Given the description of an element on the screen output the (x, y) to click on. 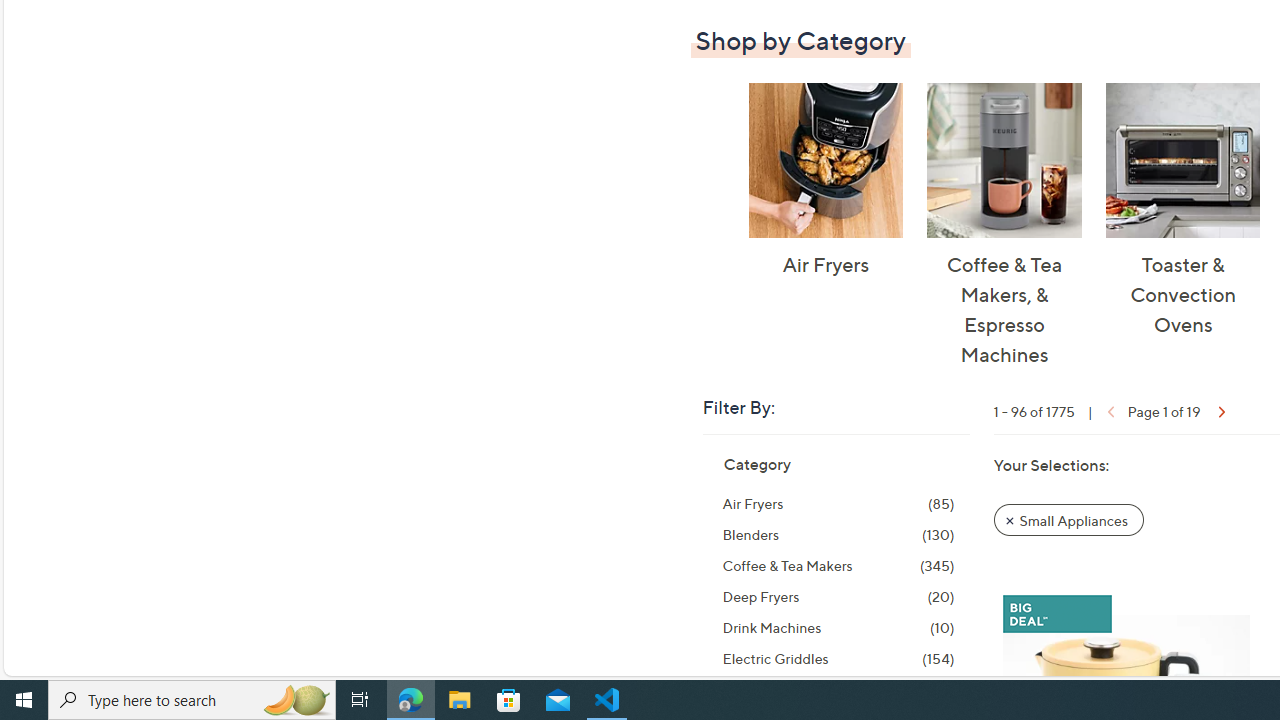
Small Appliances (1069, 519)
Air Fryers (825, 160)
Coffee & Tea Makers, & Espresso Machines (1003, 160)
Toaster & Convection Ovens (1182, 160)
Coffee & Tea Makers, 345 items (837, 565)
Deep Fryers, 20 items (837, 596)
Remove Filter: Small Appliances (1068, 520)
Previous Page (1108, 410)
Electric Griddles, 154 items (837, 659)
Blenders, 130 items (837, 534)
Drink Machines, 10 items (837, 628)
Air Fryers, 85 items (837, 503)
Category (756, 463)
Next Page (1219, 410)
